Given the description of an element on the screen output the (x, y) to click on. 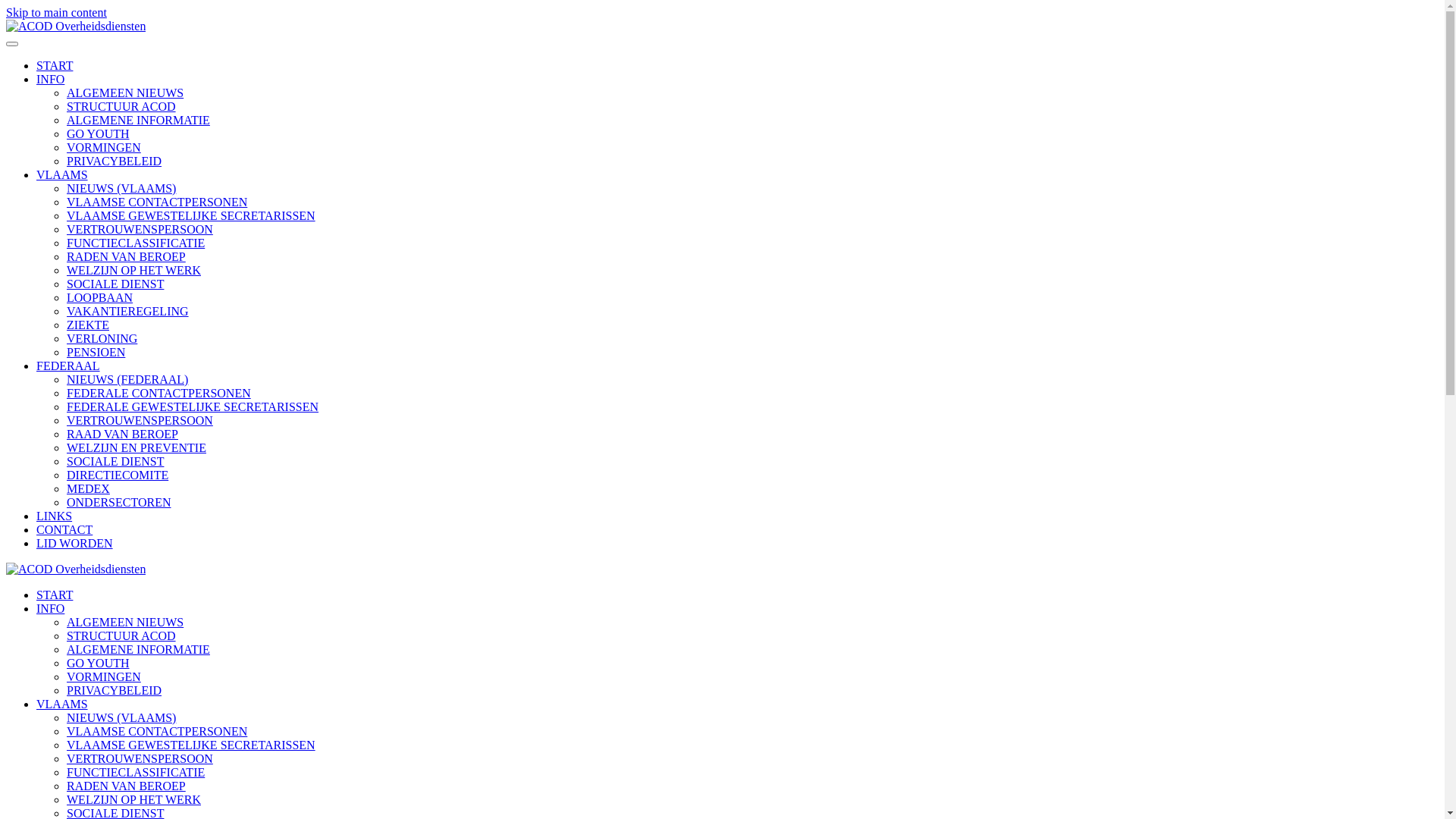
ALGEMENE INFORMATIE Element type: text (138, 649)
VLAAMS Element type: text (61, 174)
SOCIALE DIENST Element type: text (114, 283)
INFO Element type: text (50, 78)
ONDERSECTOREN Element type: text (118, 501)
VORMINGEN Element type: text (103, 147)
INFO Element type: text (50, 608)
DIRECTIECOMITE Element type: text (117, 474)
FEDERALE CONTACTPERSONEN Element type: text (158, 392)
PENSIOEN Element type: text (95, 351)
VLAAMSE GEWESTELIJKE SECRETARISSEN Element type: text (190, 215)
MEDEX Element type: text (87, 488)
START Element type: text (54, 594)
VLAAMSE CONTACTPERSONEN Element type: text (156, 201)
ALGEMENE INFORMATIE Element type: text (138, 119)
FEDERALE GEWESTELIJKE SECRETARISSEN Element type: text (192, 406)
RAAD VAN BEROEP Element type: text (122, 433)
GO YOUTH Element type: text (97, 133)
ALGEMEEN NIEUWS Element type: text (124, 92)
VLAAMS Element type: text (61, 703)
VORMINGEN Element type: text (103, 676)
STRUCTUUR ACOD Element type: text (120, 106)
VLAAMSE CONTACTPERSONEN Element type: text (156, 730)
ZIEKTE Element type: text (87, 324)
RADEN VAN BEROEP Element type: text (125, 785)
LOOPBAAN Element type: text (99, 297)
NIEUWS (VLAAMS) Element type: text (120, 717)
VERTROUWENSPERSOON Element type: text (139, 758)
PRIVACYBELEID Element type: text (113, 160)
WELZIJN OP HET WERK Element type: text (133, 799)
STRUCTUUR ACOD Element type: text (120, 635)
VAKANTIEREGELING Element type: text (127, 310)
START Element type: text (54, 65)
NIEUWS (FEDERAAL) Element type: text (127, 379)
VLAAMSE GEWESTELIJKE SECRETARISSEN Element type: text (190, 744)
NIEUWS (VLAAMS) Element type: text (120, 188)
CONTACT Element type: text (64, 529)
WELZIJN EN PREVENTIE Element type: text (136, 447)
VERTROUWENSPERSOON Element type: text (139, 228)
ALGEMEEN NIEUWS Element type: text (124, 621)
LID WORDEN Element type: text (74, 542)
PRIVACYBELEID Element type: text (113, 690)
FEDERAAL Element type: text (68, 365)
FUNCTIECLASSIFICATIE Element type: text (135, 242)
GO YOUTH Element type: text (97, 662)
VERLONING Element type: text (101, 338)
FUNCTIECLASSIFICATIE Element type: text (135, 771)
Skip to main content Element type: text (56, 12)
WELZIJN OP HET WERK Element type: text (133, 269)
RADEN VAN BEROEP Element type: text (125, 256)
LINKS Element type: text (54, 515)
SOCIALE DIENST Element type: text (114, 461)
VERTROUWENSPERSOON Element type: text (139, 420)
